Given the description of an element on the screen output the (x, y) to click on. 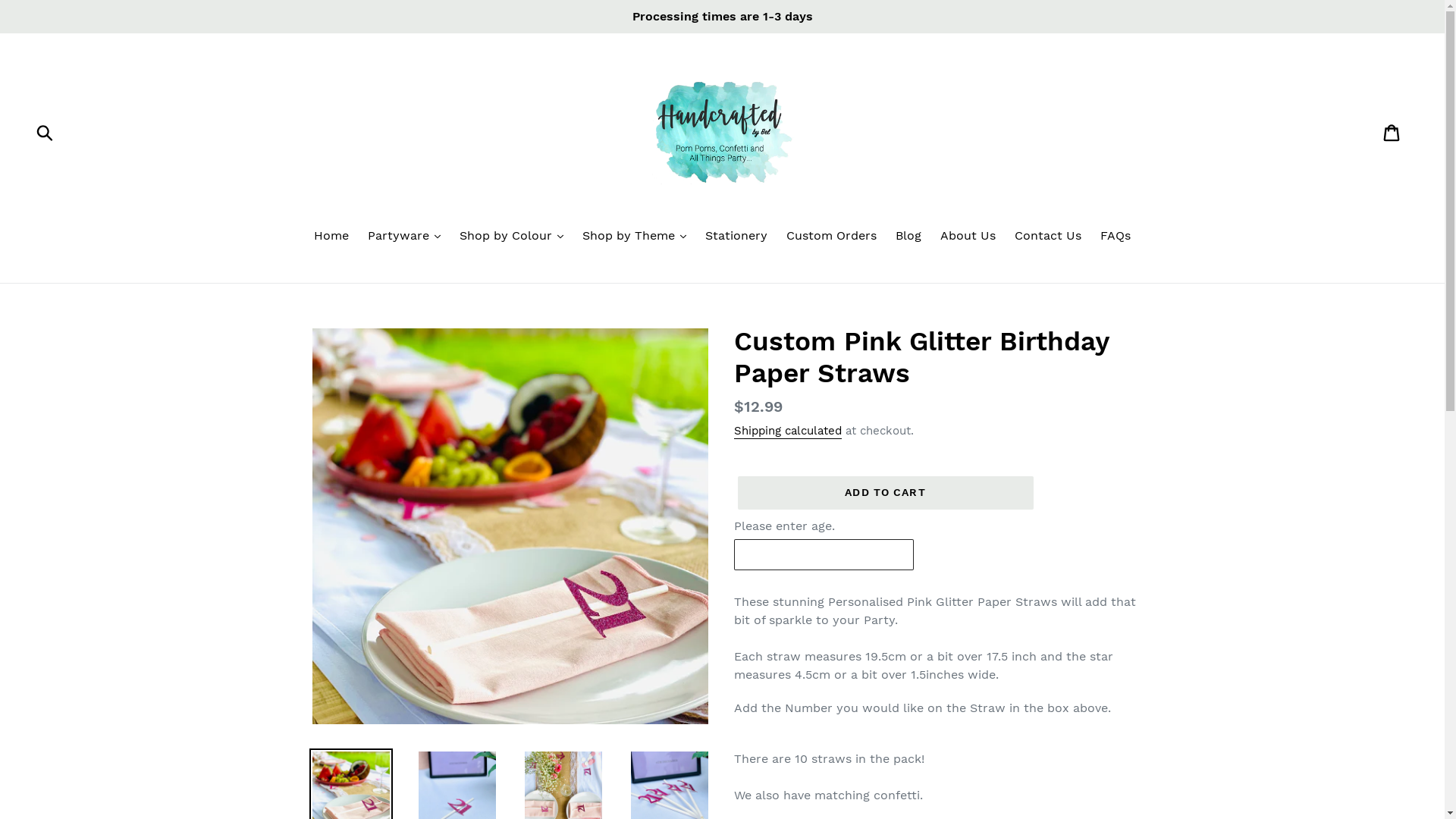
Blog Element type: text (908, 236)
Cart Element type: text (1392, 132)
Stationery Element type: text (736, 236)
FAQs Element type: text (1115, 236)
Submit Element type: text (45, 131)
ADD TO CART Element type: text (884, 492)
Custom Orders Element type: text (831, 236)
Contact Us Element type: text (1047, 236)
Shipping calculated Element type: text (787, 431)
About Us Element type: text (967, 236)
Home Element type: text (331, 236)
